Given the description of an element on the screen output the (x, y) to click on. 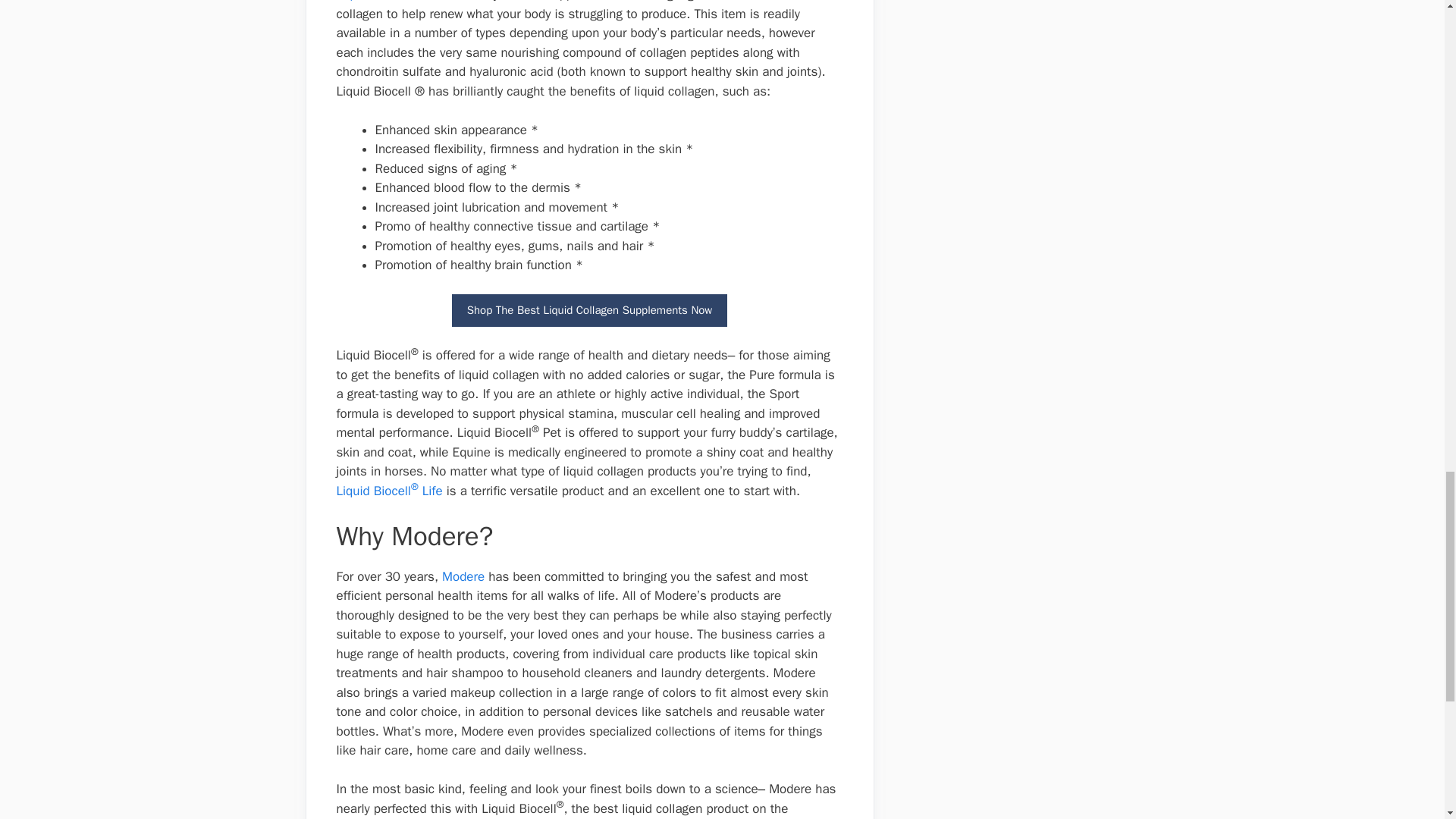
Liquid Biocell (373, 1)
Shop The Best Liquid Collagen Supplements Now (589, 310)
Modere (463, 576)
